Given the description of an element on the screen output the (x, y) to click on. 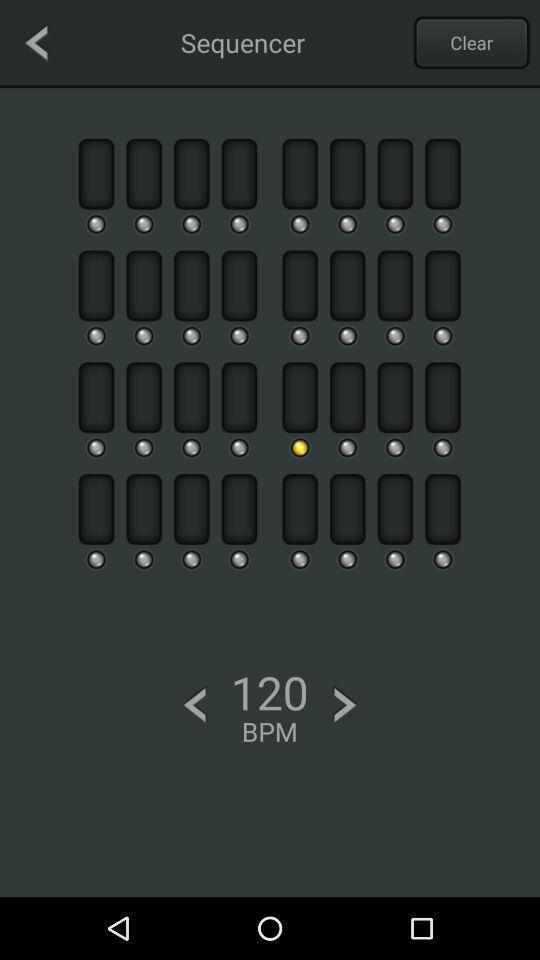
go to 119 bpm (194, 704)
